Given the description of an element on the screen output the (x, y) to click on. 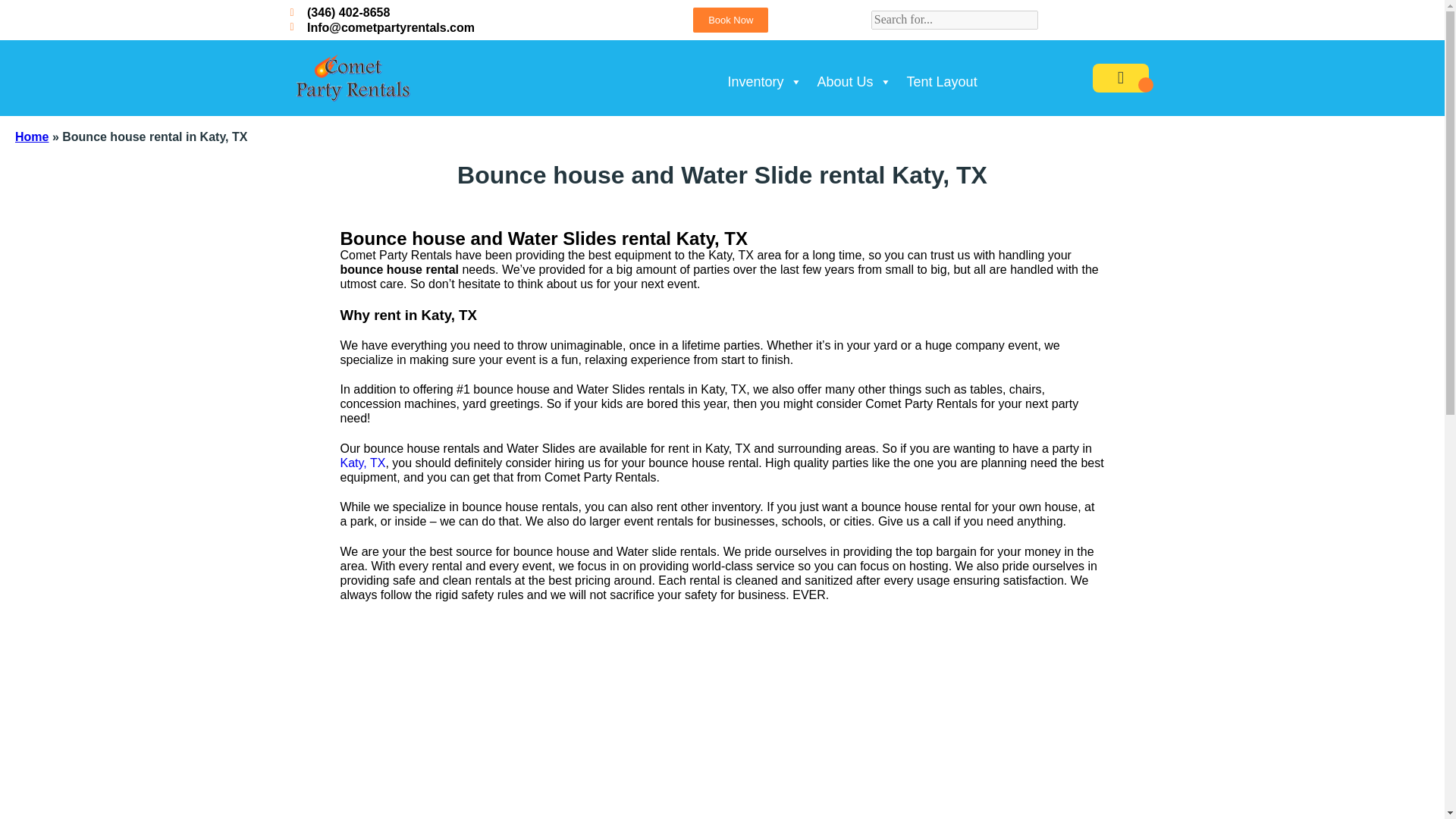
Inventory (764, 73)
Search (22, 9)
Book Now (730, 19)
About Us (854, 73)
